Given the description of an element on the screen output the (x, y) to click on. 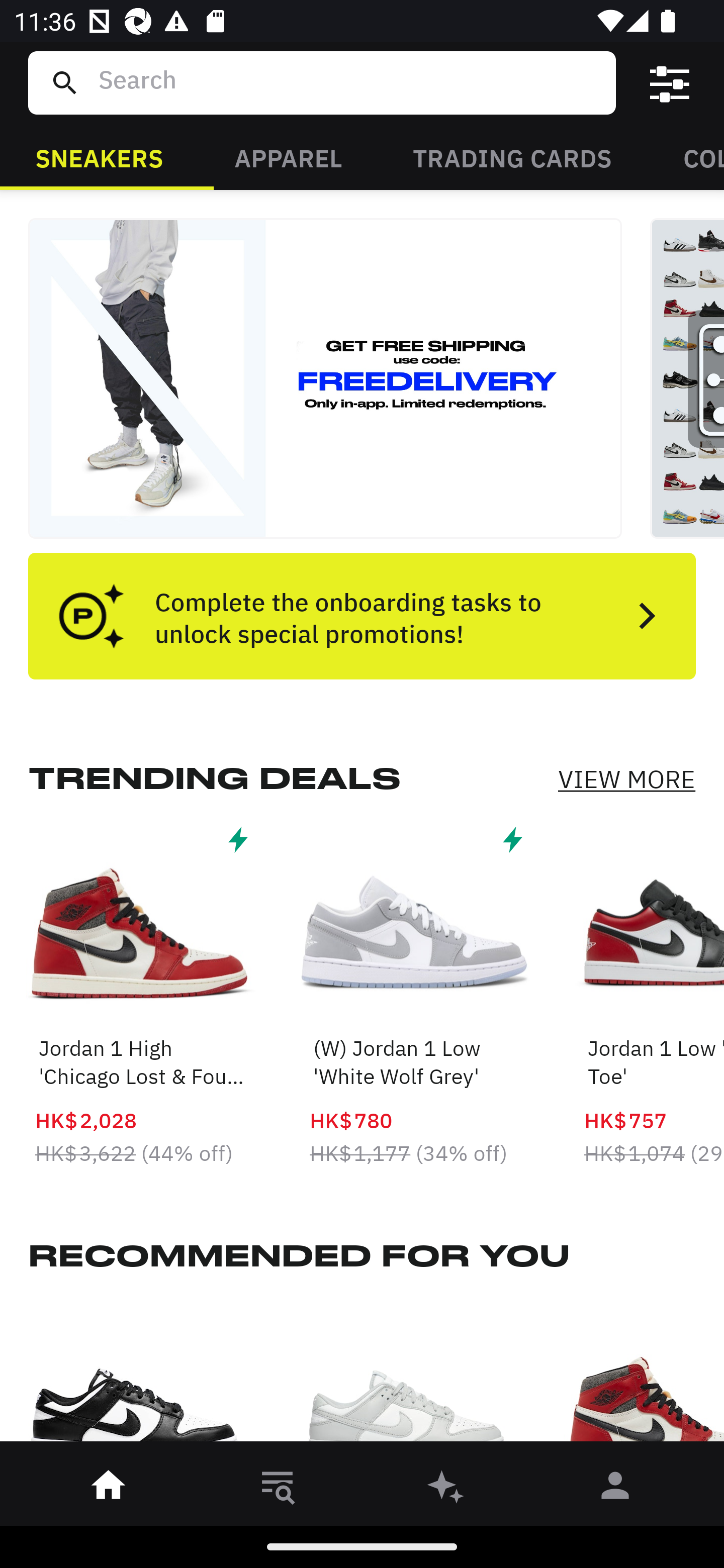
Search (349, 82)
 (669, 82)
SNEAKERS (99, 156)
APPAREL (287, 156)
TRADING CARDS (512, 156)
VIEW MORE (626, 779)
󰋜 (108, 1488)
󱎸 (277, 1488)
󰫢 (446, 1488)
󰀄 (615, 1488)
